Given the description of an element on the screen output the (x, y) to click on. 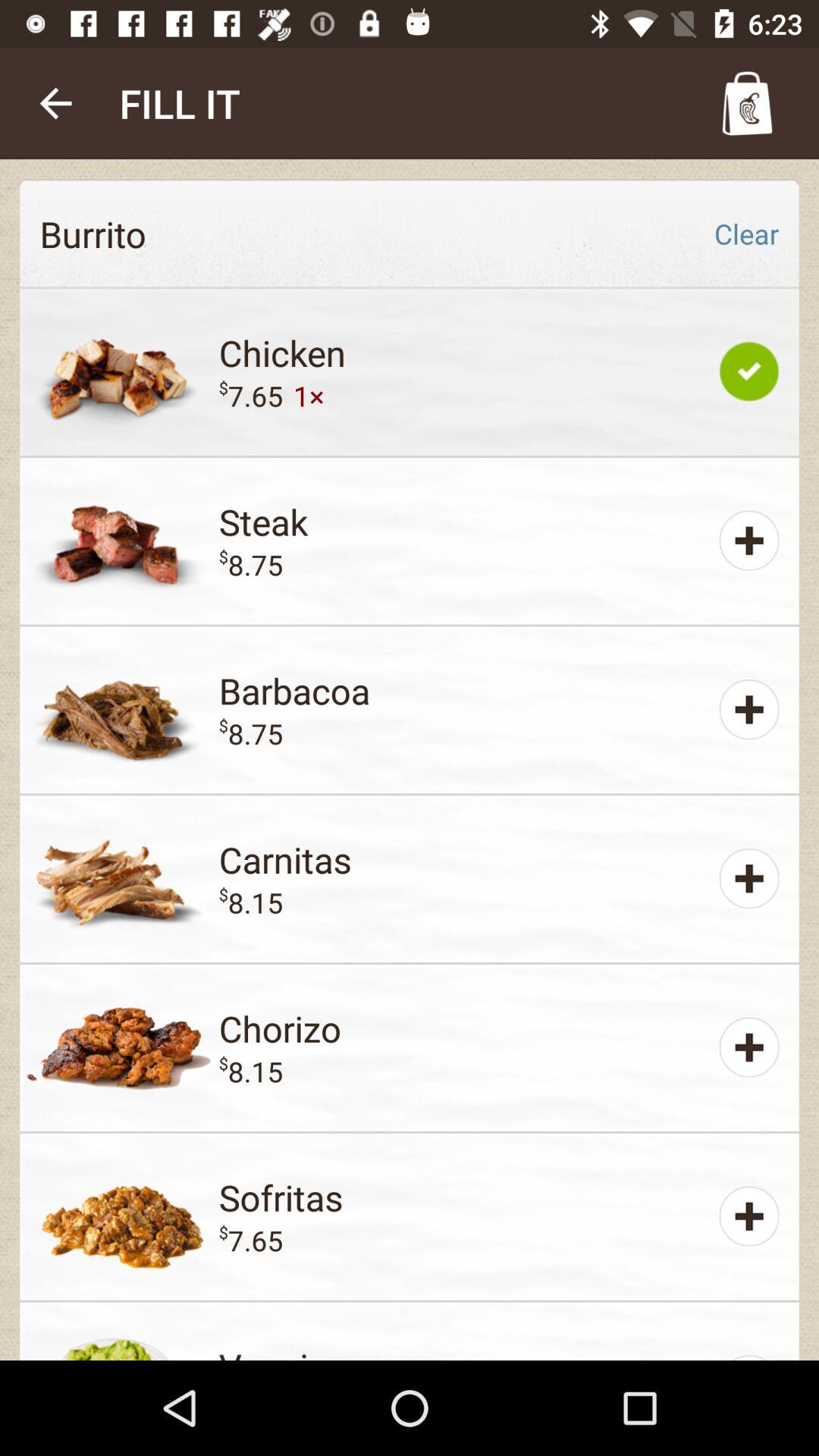
scroll until clear (746, 233)
